Given the description of an element on the screen output the (x, y) to click on. 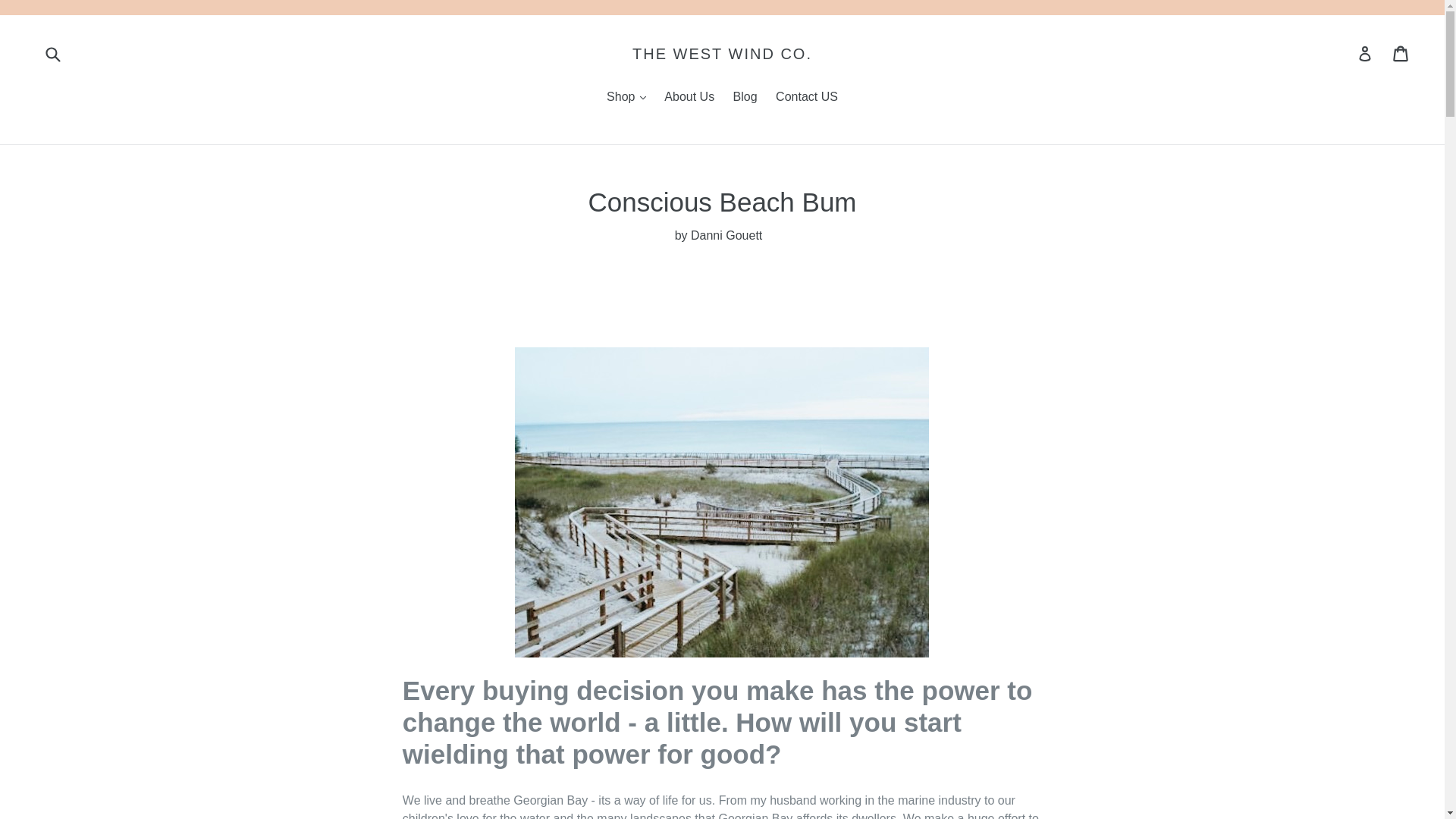
About Us (689, 97)
THE WEST WIND CO. (721, 54)
Contact US (806, 97)
Blog (745, 97)
